Given the description of an element on the screen output the (x, y) to click on. 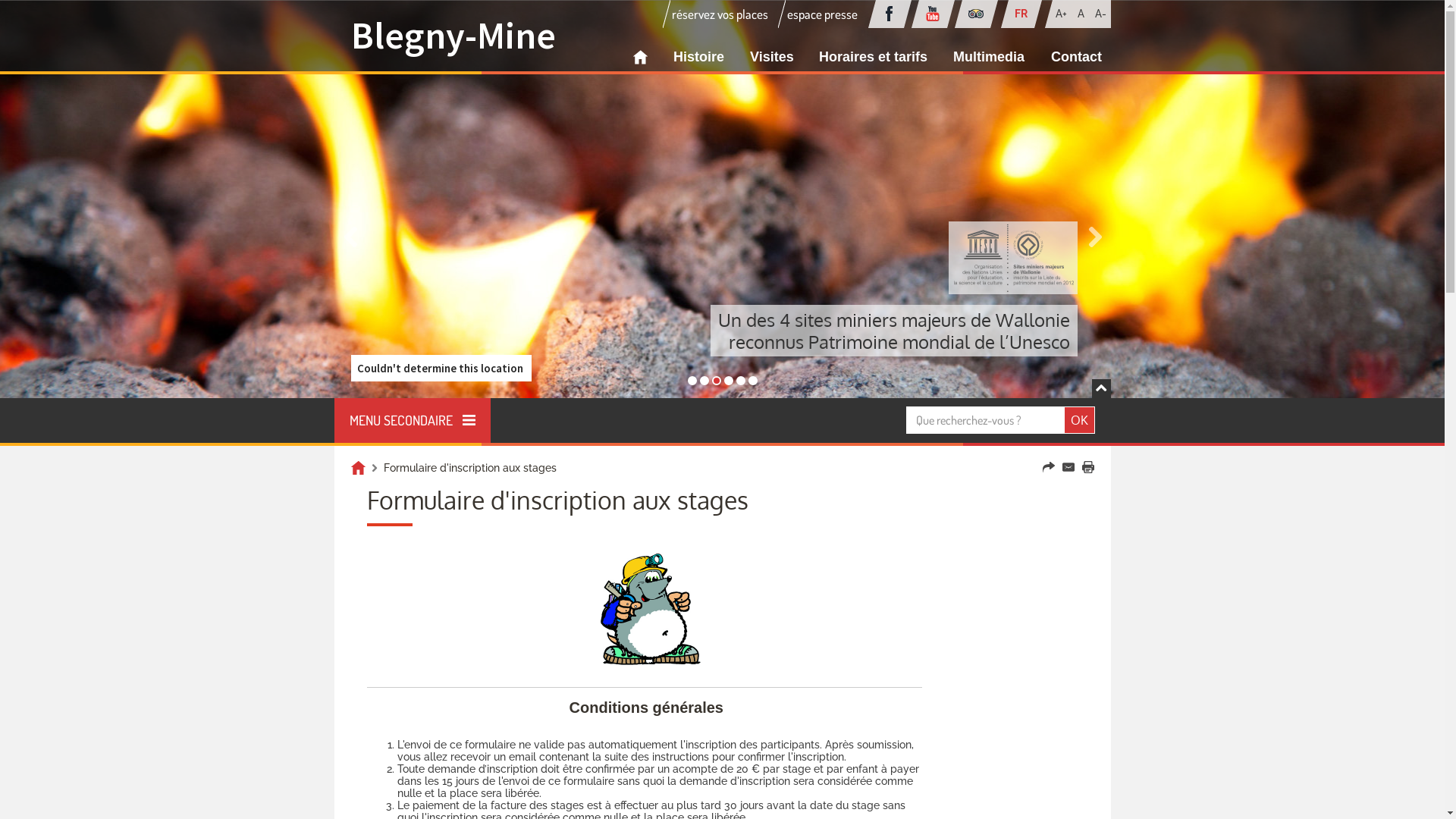
Share Element type: text (1047, 467)
Accueil Element type: text (357, 467)
5 Element type: text (751, 380)
Facebook Element type: text (889, 14)
FR Element type: text (1021, 14)
Imprimer Element type: text (1087, 467)
Tripadvisor Element type: text (975, 14)
4 Element type: text (739, 380)
Youtube Element type: text (933, 14)
Next Element type: text (1094, 235)
Horaires et tarifs Element type: text (872, 57)
Contact Element type: text (1075, 57)
Contact Element type: text (1067, 467)
1 Element type: text (703, 380)
Multimedia Element type: text (988, 57)
Accueil Element type: text (640, 57)
Ok Element type: text (1079, 420)
3 Element type: text (727, 380)
Visites Element type: text (771, 57)
0 Element type: text (691, 380)
Prev Element type: text (349, 235)
espace presse Element type: text (822, 13)
Histoire Element type: text (698, 57)
Blegny-Mine Element type: text (452, 35)
2 Element type: text (715, 380)
